Given the description of an element on the screen output the (x, y) to click on. 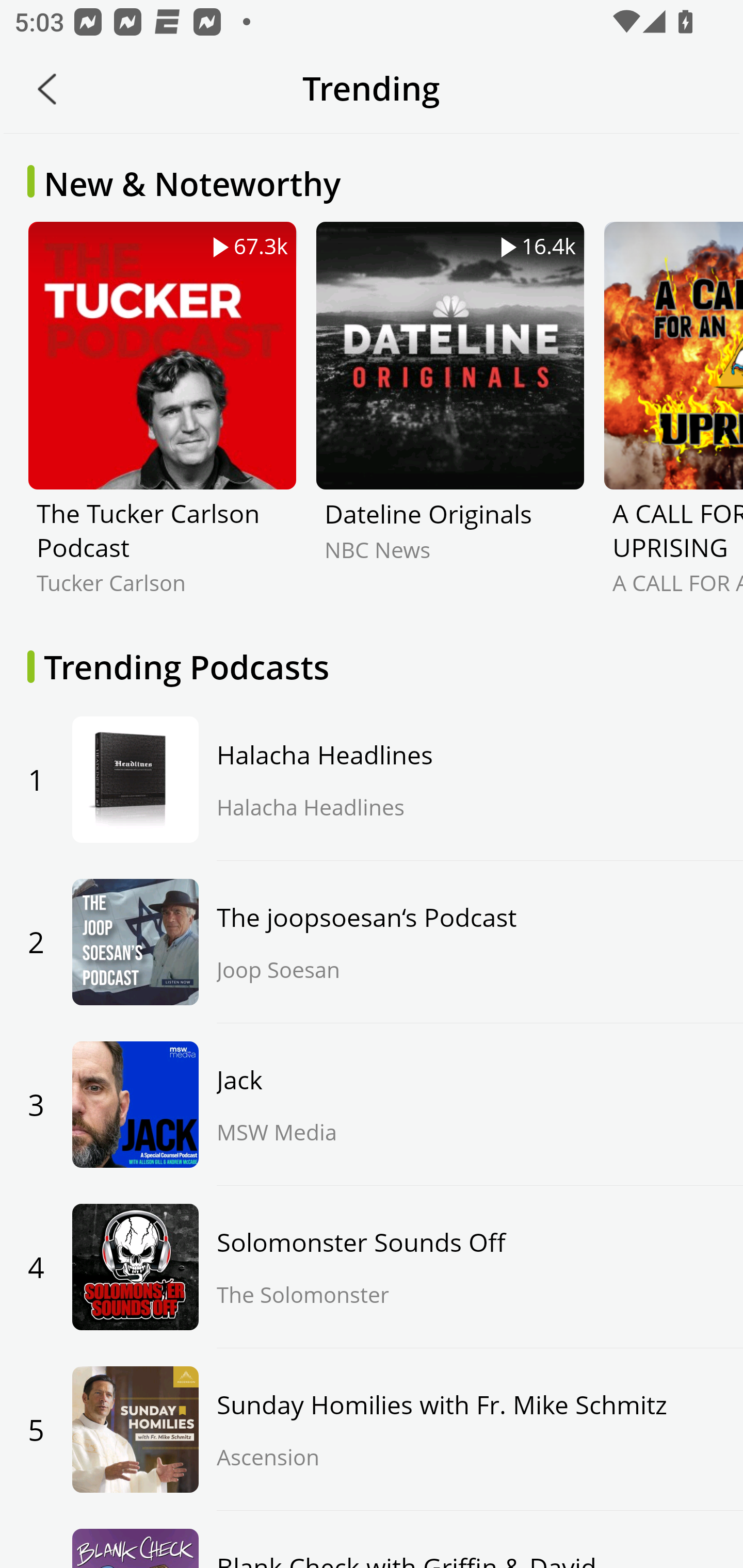
Back (46, 88)
67.3k The Tucker Carlson Podcast Tucker Carlson (162, 423)
16.4k Dateline Originals NBC News (450, 423)
A CALL FOR AN UPRISING (673, 423)
Trending Podcasts (371, 666)
1 Halacha Headlines Halacha Headlines (371, 778)
2 The joopsoesan‘s Podcast Joop Soesan (371, 941)
3 Jack MSW Media (371, 1104)
4 Solomonster Sounds Off The Solomonster (371, 1266)
5 Sunday Homilies with Fr. Mike Schmitz Ascension (371, 1428)
